Given the description of an element on the screen output the (x, y) to click on. 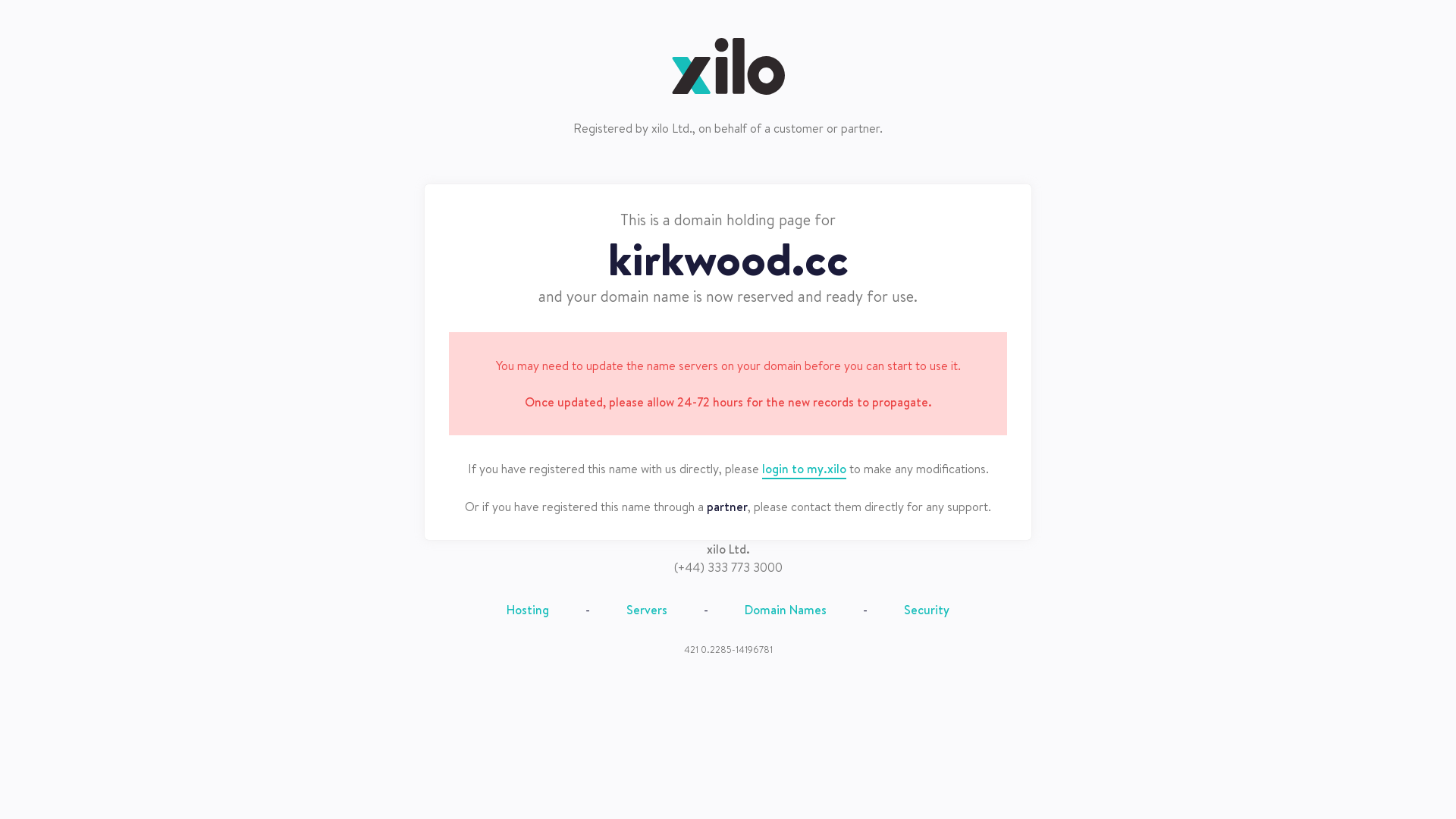
Security Element type: text (926, 609)
xilo Element type: text (727, 65)
login to my.xilo Element type: text (803, 469)
Hosting Element type: text (527, 609)
Domain Names Element type: text (785, 609)
Servers Element type: text (646, 609)
